Given the description of an element on the screen output the (x, y) to click on. 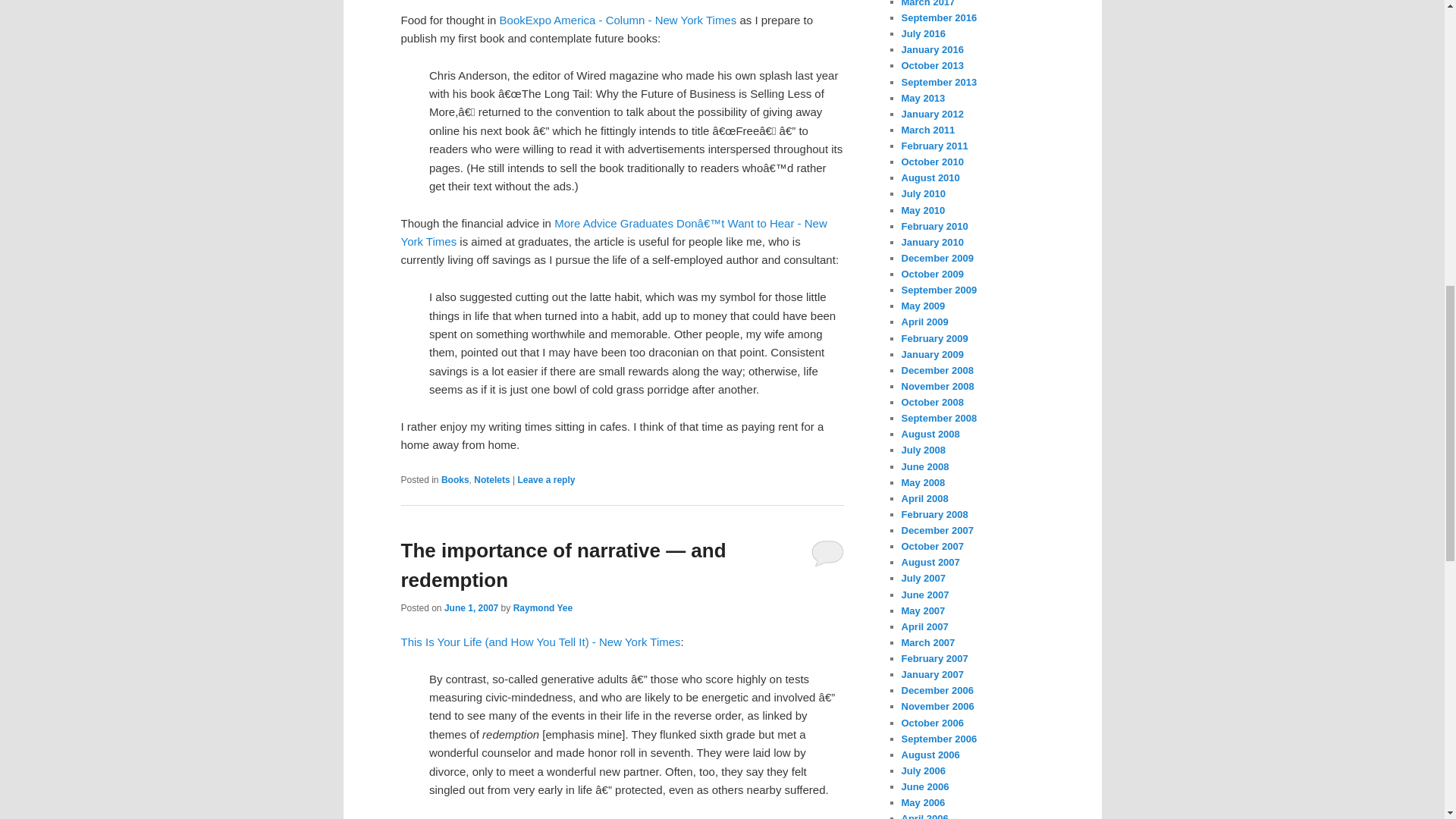
Leave a reply (545, 480)
View all posts by Raymond Yee (542, 606)
June 1, 2007 (470, 606)
Notelets (491, 480)
Books (454, 480)
6:06 pm (470, 606)
Raymond Yee (542, 606)
BookExpo America - Column - New York Times (617, 19)
